Given the description of an element on the screen output the (x, y) to click on. 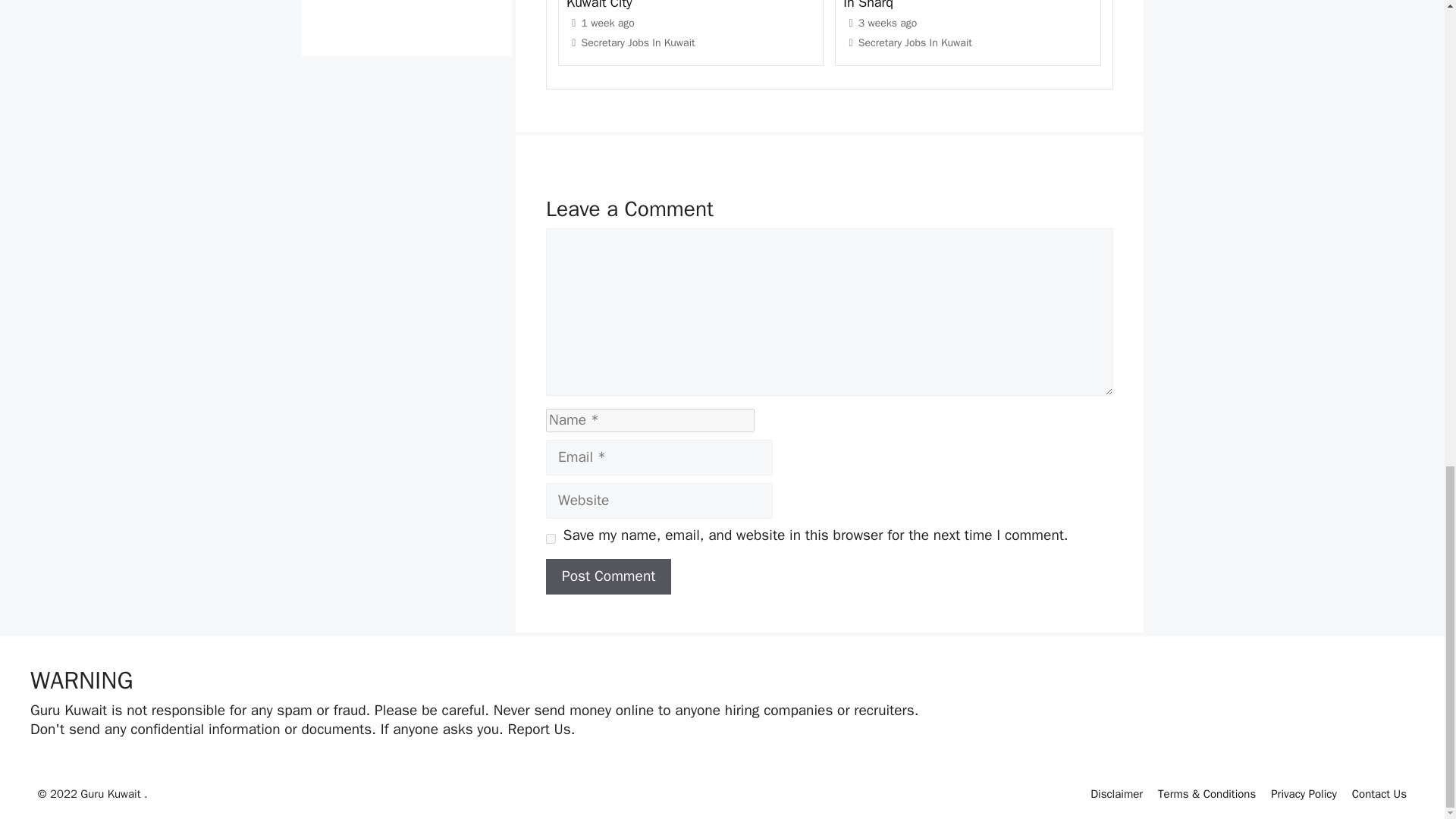
Receptionist Cum Secretary Required In Kuwait City (684, 5)
Scroll back to top (1406, 447)
Post Comment (608, 576)
Secretary Jobs In Kuwait (637, 42)
yes (551, 538)
